Given the description of an element on the screen output the (x, y) to click on. 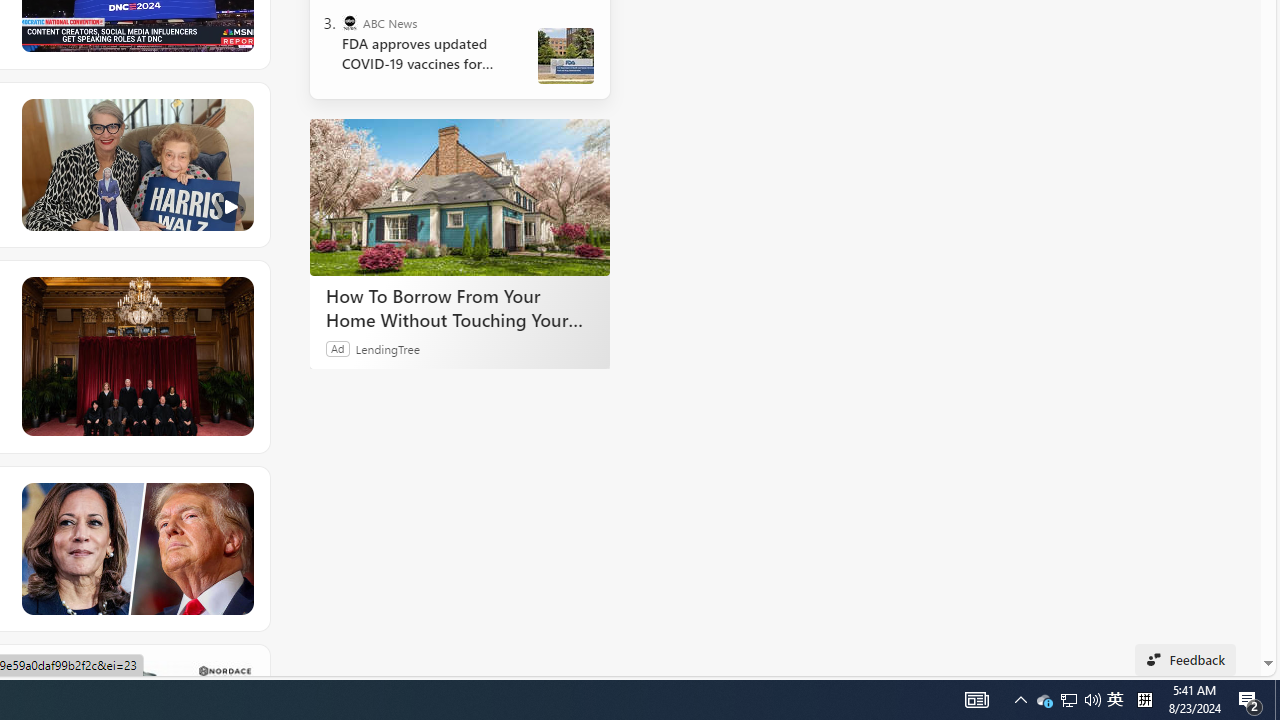
LendingTree (387, 348)
Class: hero-image (136, 165)
ABC News (349, 22)
